Given the description of an element on the screen output the (x, y) to click on. 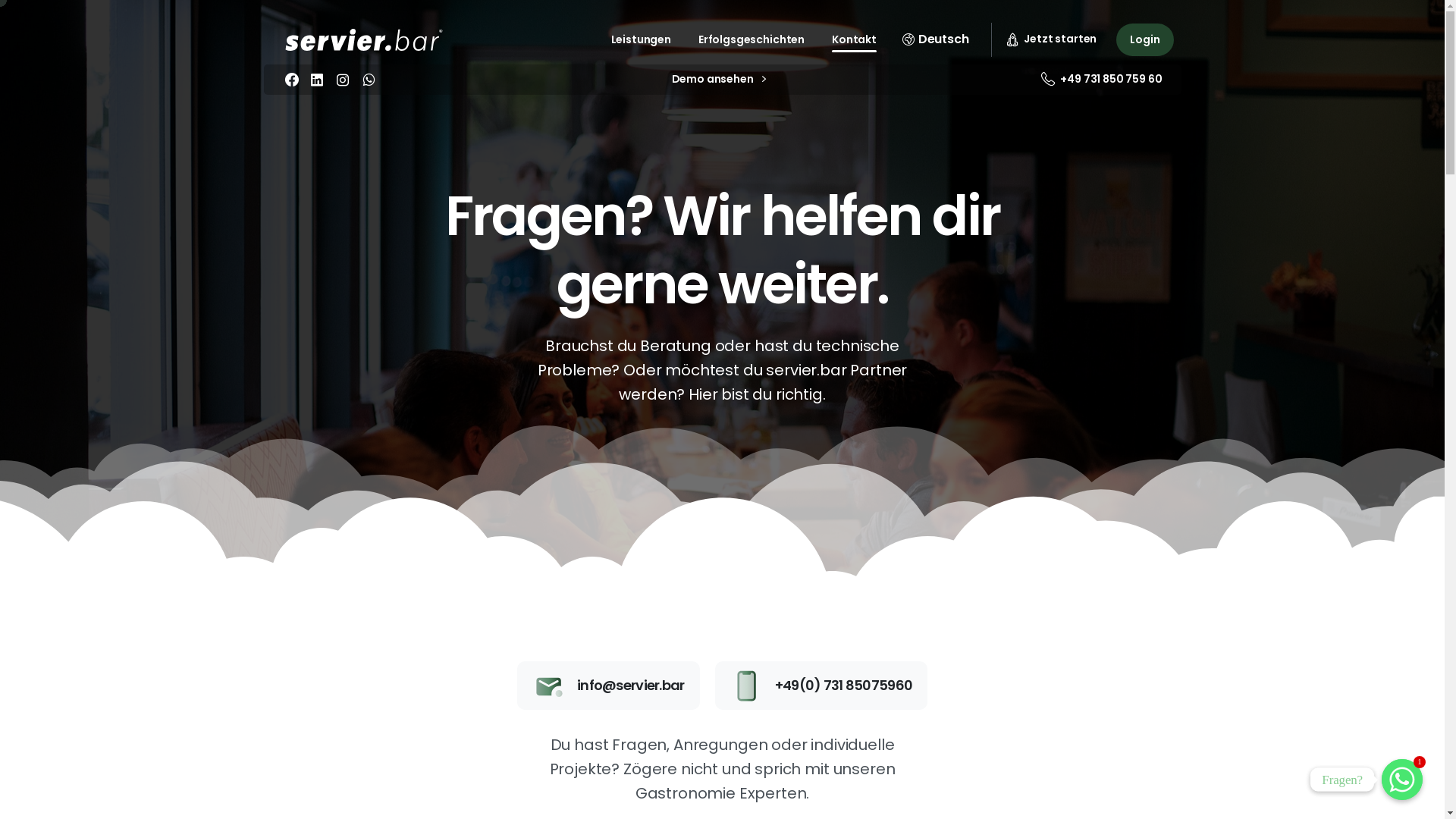
Telefon Element type: text (1114, 554)
+49 731 850 759 60 Element type: text (1101, 79)
Datenschutz Element type: text (957, 620)
instagram Element type: hover (342, 79)
Crew Element type: text (801, 498)
Success Stories Element type: text (801, 554)
Leistungen Element type: text (641, 39)
Erfolgsgeschichten Element type: text (751, 39)
Login Element type: text (1144, 39)
Kontakt Element type: text (1114, 498)
Deutsch Element type: text (935, 39)
1
Fragen? Element type: text (1401, 779)
Features Element type: text (957, 498)
Zum Login Element type: text (604, 368)
Demo anfragen Element type: text (957, 526)
AGB Element type: text (957, 648)
Demo ansehen Element type: text (718, 79)
WhatsApp Element type: hover (368, 79)
Kontakt Element type: text (853, 39)
E-Mail Element type: text (1114, 582)
Partner Element type: text (801, 526)
Facebook Element type: hover (291, 79)
info@servier.bar Element type: text (608, 685)
+49(0) 731 85075960 Element type: text (821, 685)
linkedin Element type: hover (316, 79)
Jetzt starten Element type: text (1052, 39)
News Element type: text (801, 582)
Support Ticket Element type: text (840, 368)
WhatsApp Element type: text (1114, 526)
Impressum Element type: text (957, 592)
Jetzt starten Element type: text (369, 368)
